Given the description of an element on the screen output the (x, y) to click on. 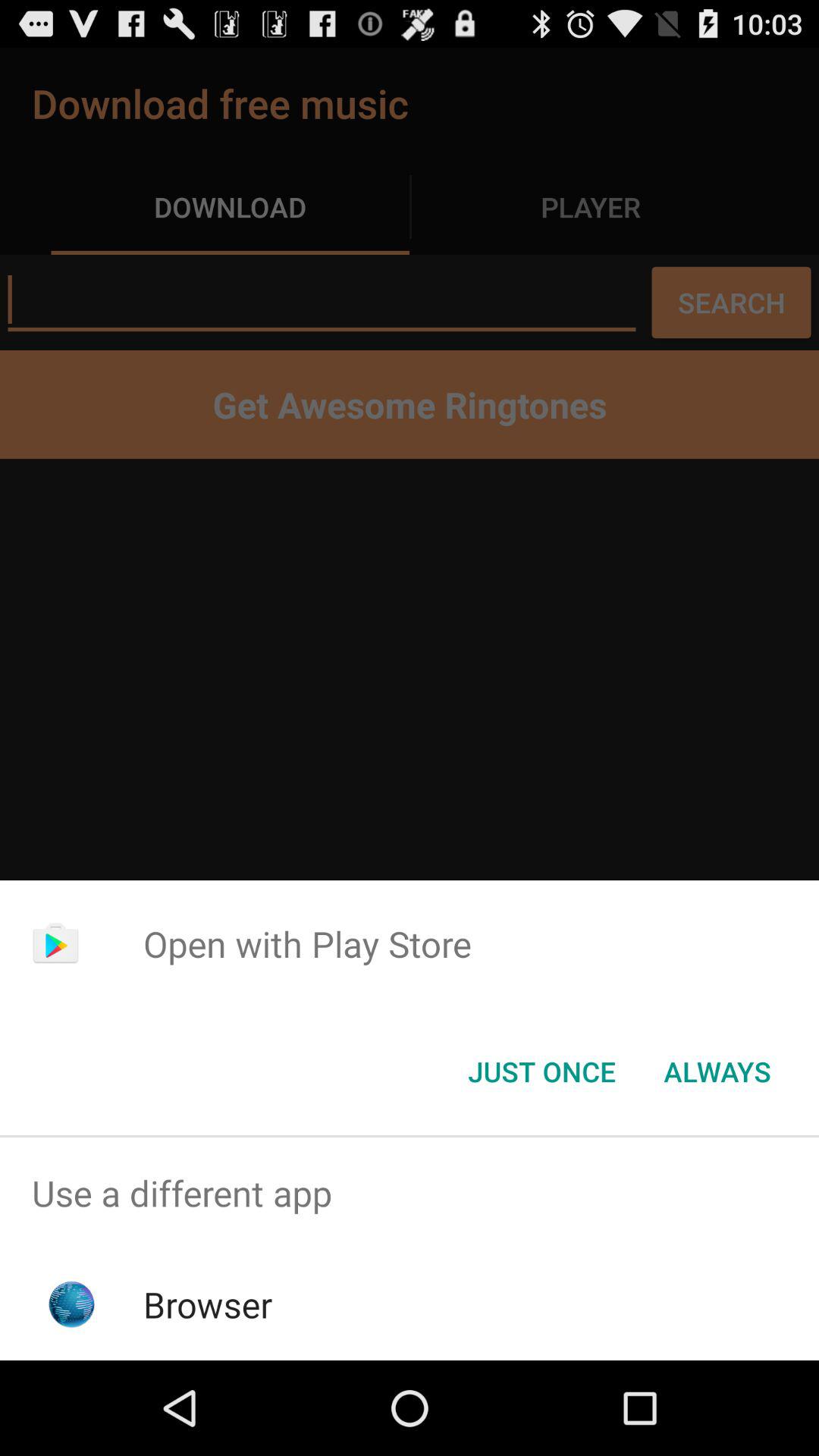
tap the item below use a different icon (207, 1304)
